Given the description of an element on the screen output the (x, y) to click on. 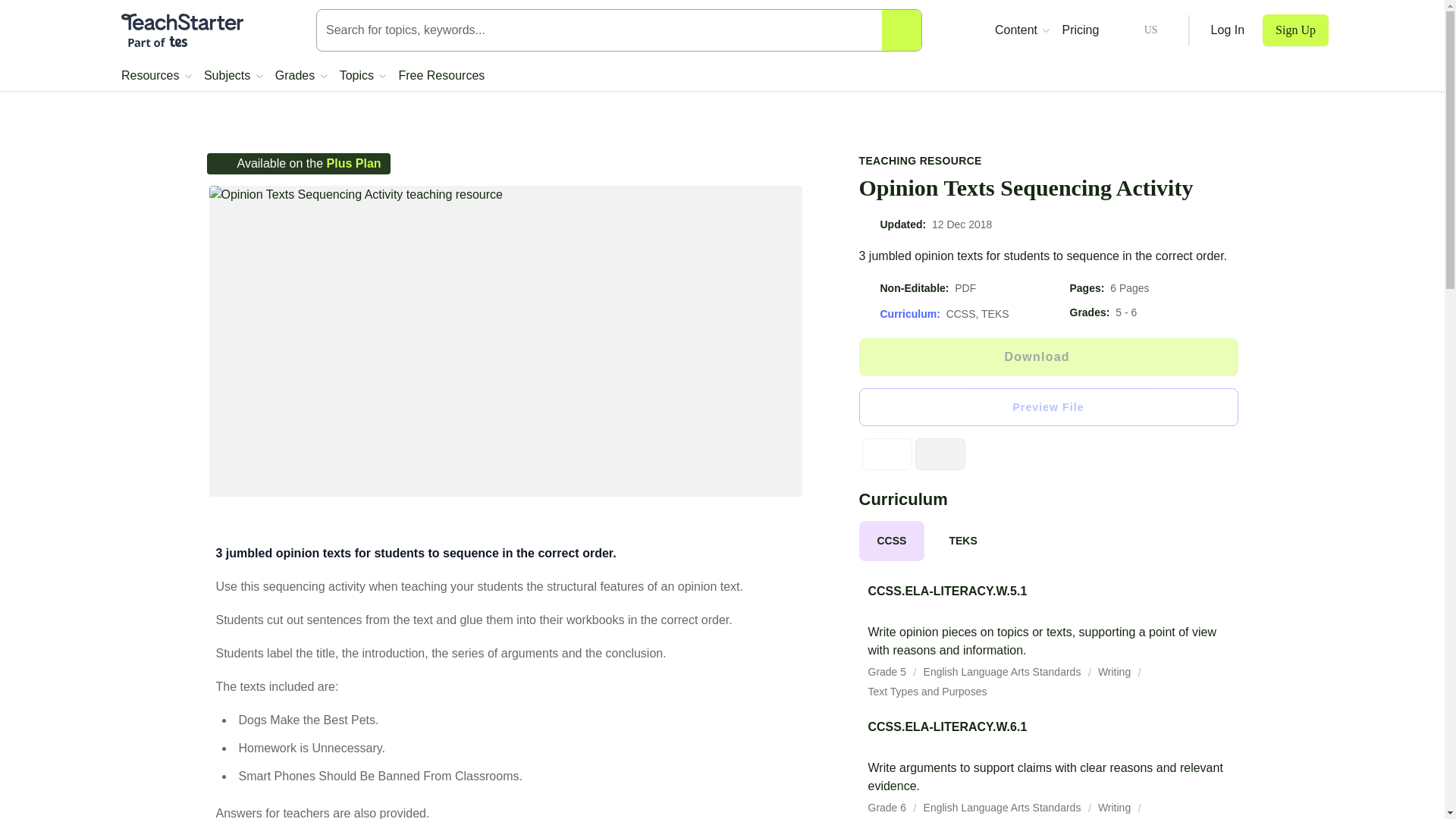
Grades  (301, 75)
Blog, podcast, and webinars (1021, 30)
Create a Teach Starter account (1294, 29)
Teach Starter, part of Tes (181, 29)
Resources  (156, 75)
Change location (1138, 30)
Log in to your account (1227, 30)
Pricing (1080, 30)
Subjects  (233, 75)
Content  (1021, 30)
